Given the description of an element on the screen output the (x, y) to click on. 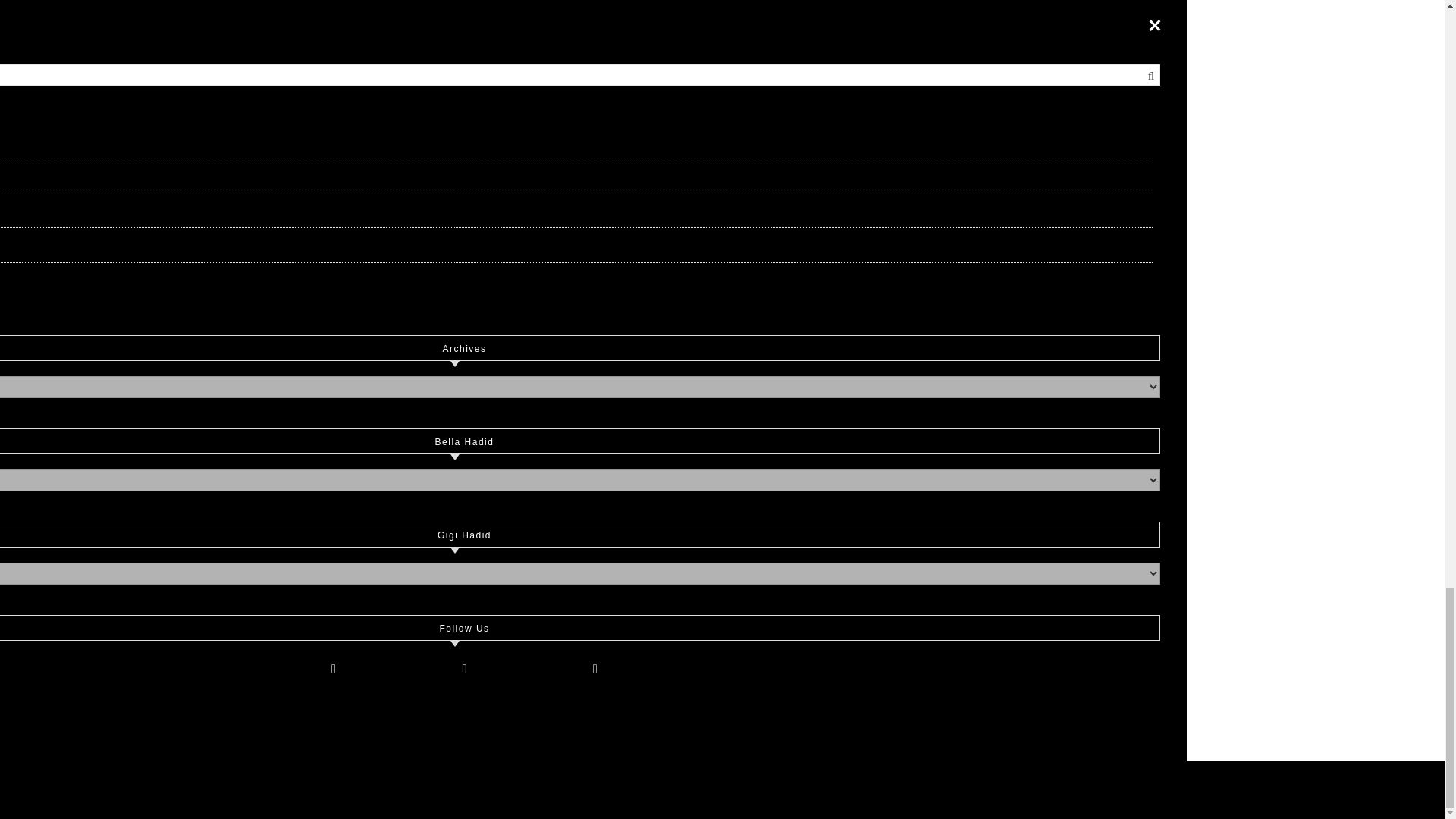
subscribe (317, 634)
subscribe (317, 665)
Post Comment (375, 703)
1 (317, 604)
Post Comment (375, 703)
